Given the description of an element on the screen output the (x, y) to click on. 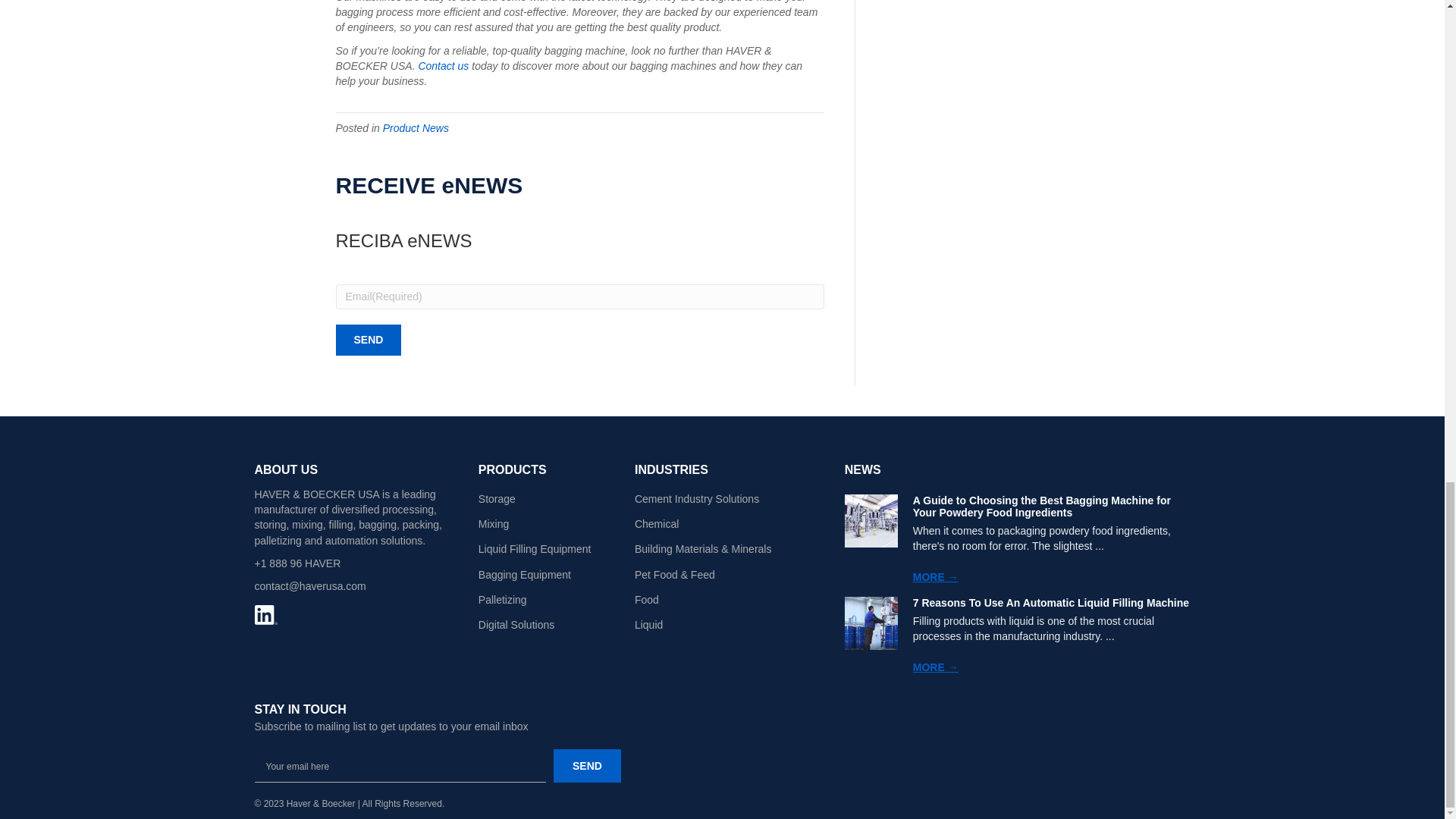
7 Reasons To Use An Automatic Liquid Filling Machine (1050, 603)
Read More (935, 576)
Send (367, 339)
Read More (935, 666)
Click Here (587, 765)
7 Reasons To Use An Automatic Liquid Filling Machine (871, 623)
